Given the description of an element on the screen output the (x, y) to click on. 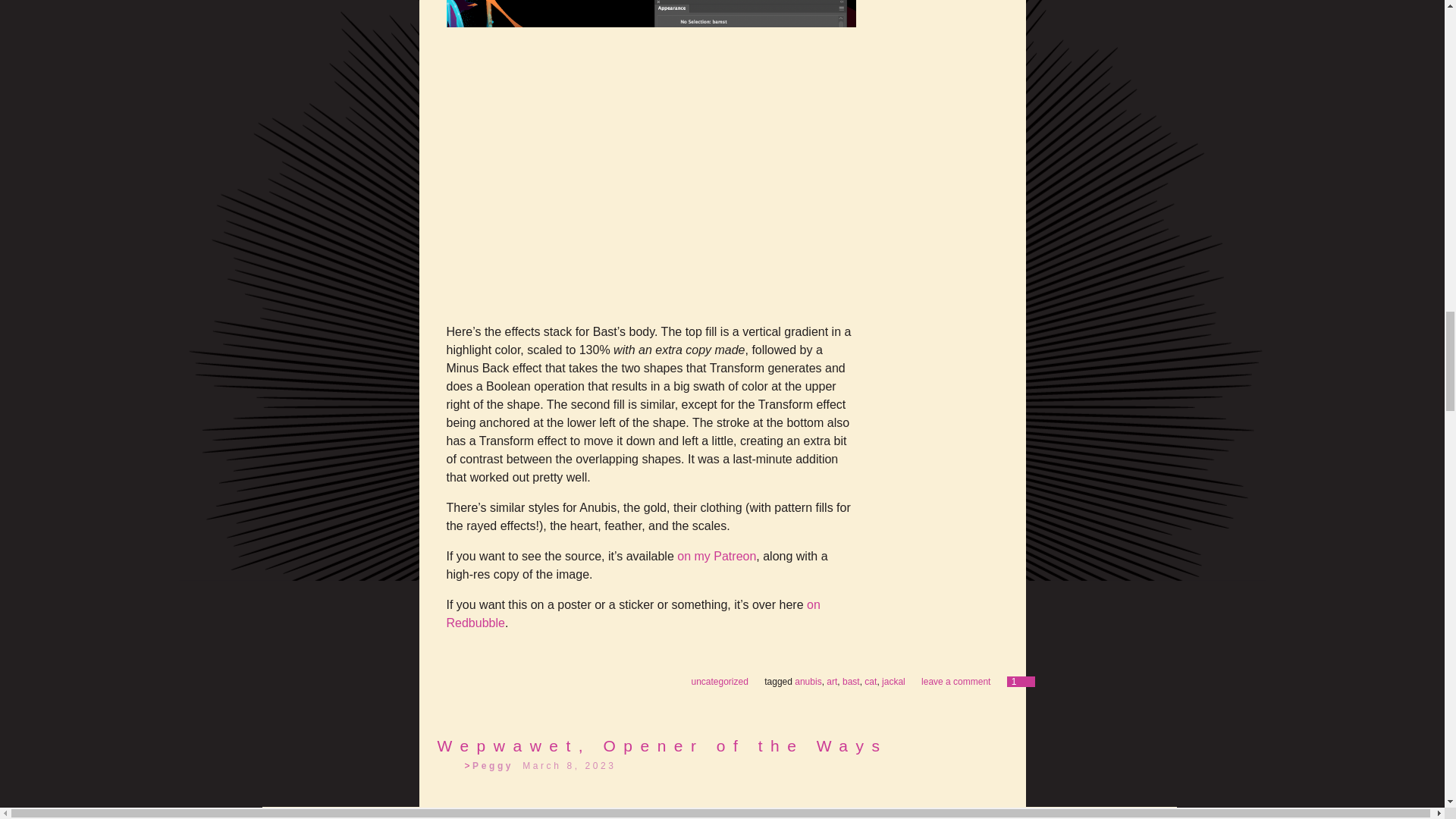
anubis (807, 681)
leave a comment (955, 681)
jackal (893, 681)
art (832, 681)
bast (851, 681)
uncategorized (719, 681)
cat (870, 681)
on my Patreon (716, 555)
Permalink to Wepwawet, Opener of the Ways (661, 745)
Wepwawet, Opener of the Ways (661, 745)
on Redbubble (632, 613)
